Given the description of an element on the screen output the (x, y) to click on. 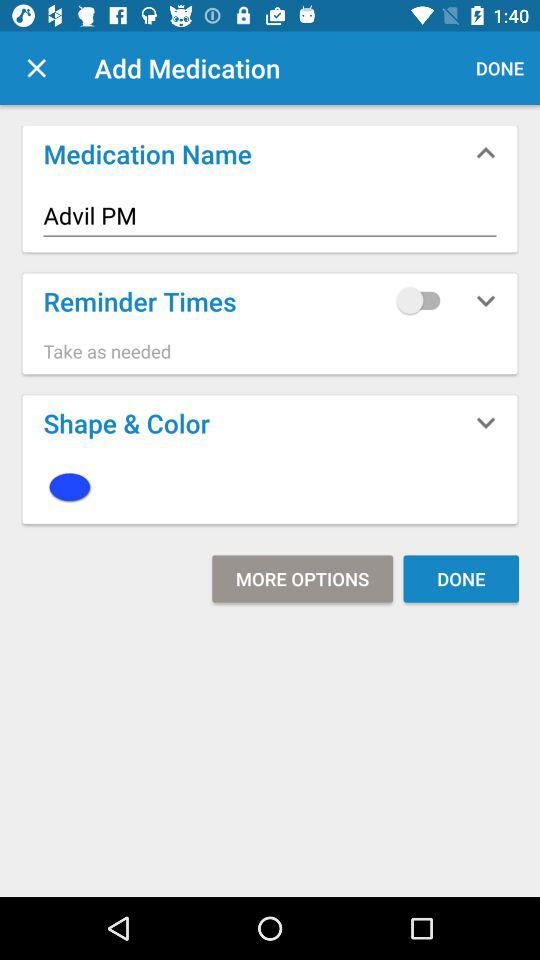
tap item next to reminder times item (423, 300)
